Given the description of an element on the screen output the (x, y) to click on. 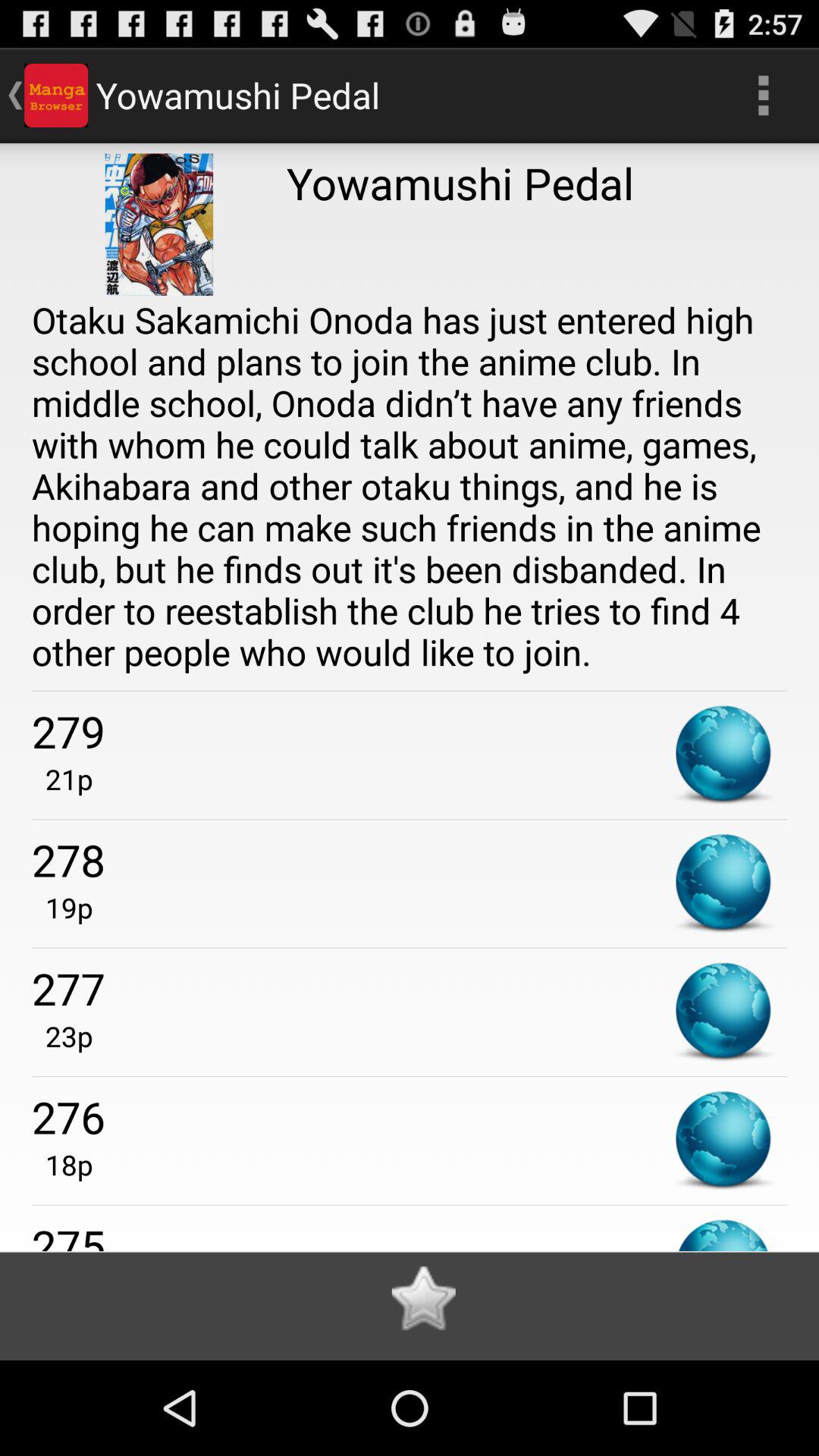
open the app below the 278 item (61, 907)
